Given the description of an element on the screen output the (x, y) to click on. 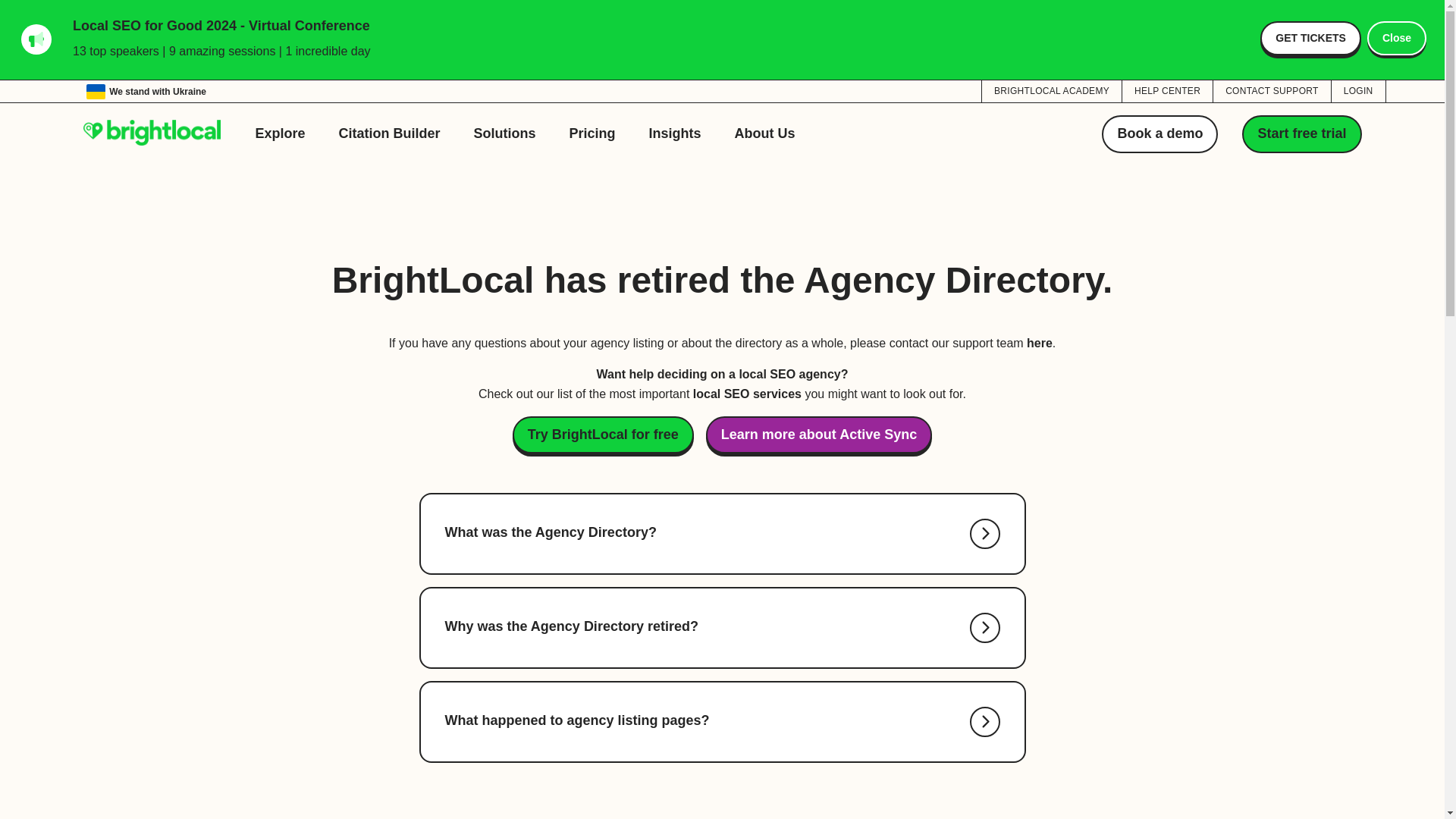
Citation Builder (390, 134)
We stand with Ukraine (145, 91)
GET TICKETS (1310, 38)
CONTACT SUPPORT (1271, 90)
GET TICKETS (1310, 38)
Solutions (505, 134)
LOGIN (1359, 90)
Close (1396, 38)
Explore (279, 134)
HELP CENTER (1167, 90)
